Given the description of an element on the screen output the (x, y) to click on. 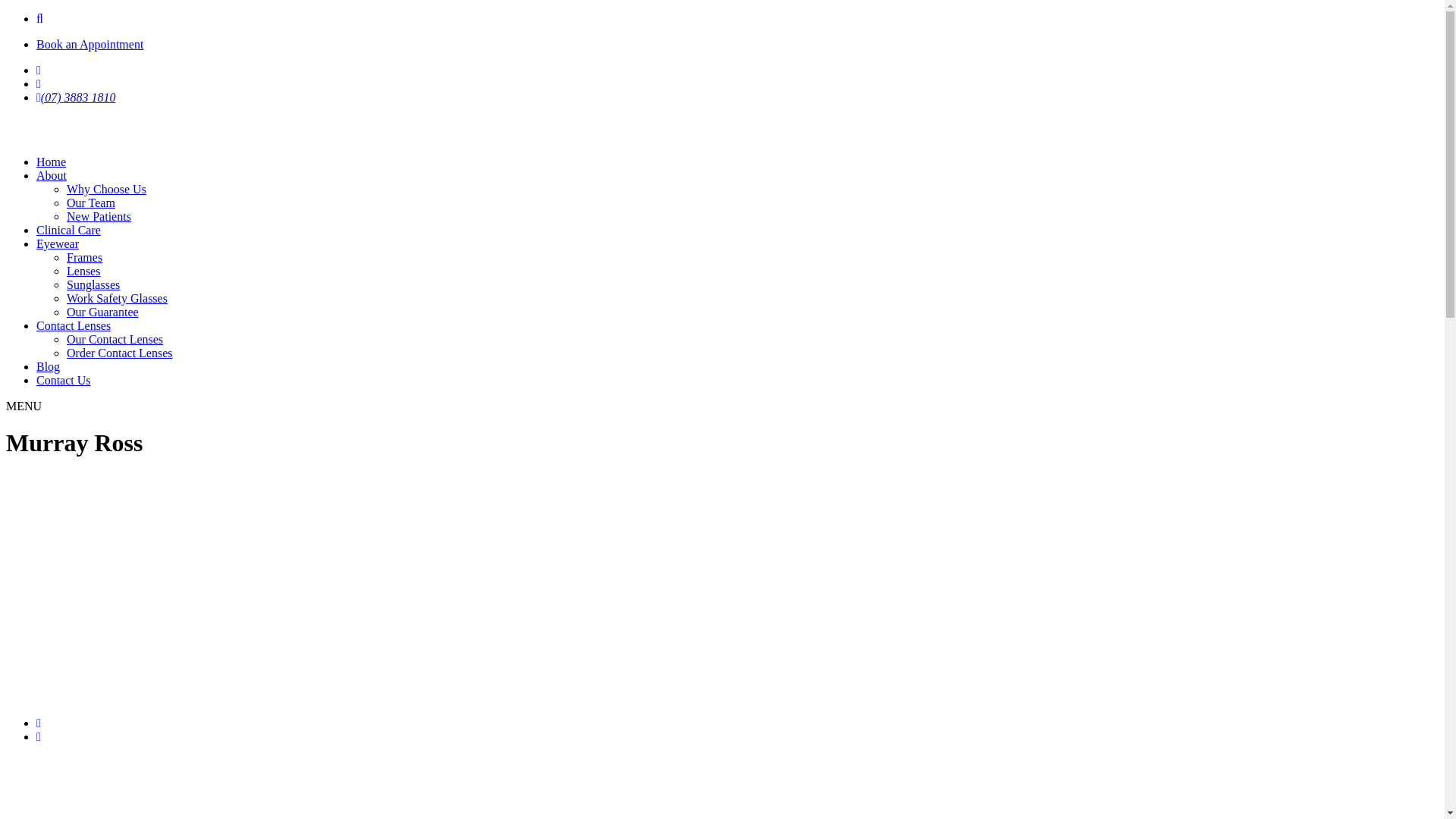
Home Element type: text (50, 161)
Order Contact Lenses Element type: text (119, 352)
Work Safety Glasses Element type: text (116, 297)
Lenses Element type: text (83, 270)
Book an Appointment Element type: text (89, 43)
Frames Element type: text (84, 257)
About Element type: text (51, 175)
Our Team Element type: text (90, 202)
Eyewear Element type: text (57, 243)
Sunglasses Element type: text (92, 284)
Our Contact Lenses Element type: text (114, 338)
New Patients Element type: text (98, 216)
Blog Element type: text (47, 366)
Clinical Care Element type: text (68, 229)
Contact Us Element type: text (63, 379)
(07) 3883 1810 Element type: text (76, 97)
Contact Lenses Element type: text (73, 325)
Our Guarantee Element type: text (102, 311)
Why Choose Us Element type: text (106, 188)
